Given the description of an element on the screen output the (x, y) to click on. 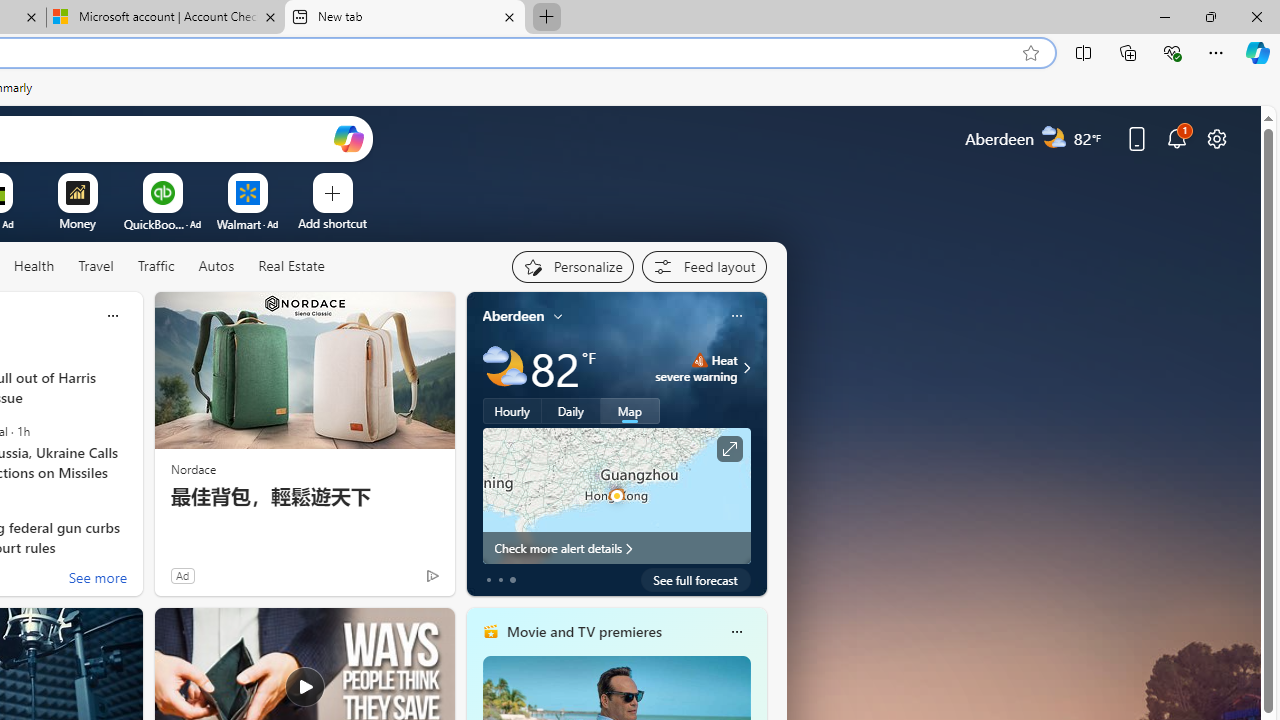
Autos (215, 265)
Travel (95, 265)
